Given the description of an element on the screen output the (x, y) to click on. 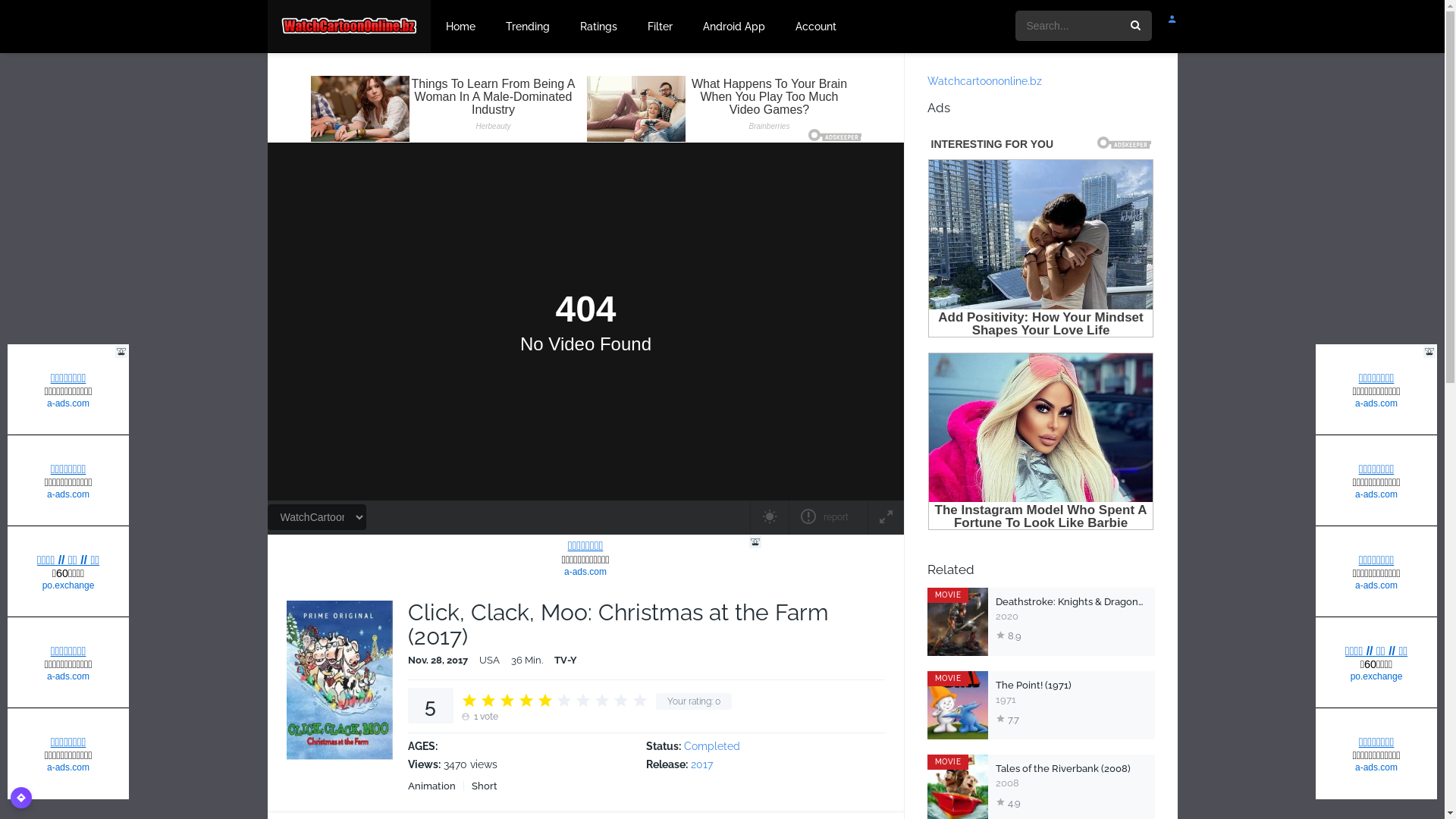
+9 Element type: hover (620, 699)
+6 Element type: hover (563, 699)
Animation Element type: text (435, 785)
Filter Element type: text (659, 26)
Arc.io Widget Launcher Element type: hover (21, 797)
Short Element type: text (483, 785)
2017 Element type: text (701, 764)
+3 Element type: hover (506, 699)
+2 Element type: hover (487, 699)
+8 Element type: hover (601, 699)
Account Element type: text (815, 26)
Watchcartoononline.bz Element type: text (983, 81)
Home Element type: text (460, 26)
+4 Element type: hover (525, 699)
+1 Element type: hover (469, 699)
+7 Element type: hover (582, 699)
report Element type: text (827, 517)
Ratings Element type: text (598, 26)
+5 Element type: hover (544, 699)
Completed Element type: text (712, 746)
+10 Element type: hover (638, 699)
Trending Element type: text (527, 26)
Android App Element type: text (733, 26)
